Given the description of an element on the screen output the (x, y) to click on. 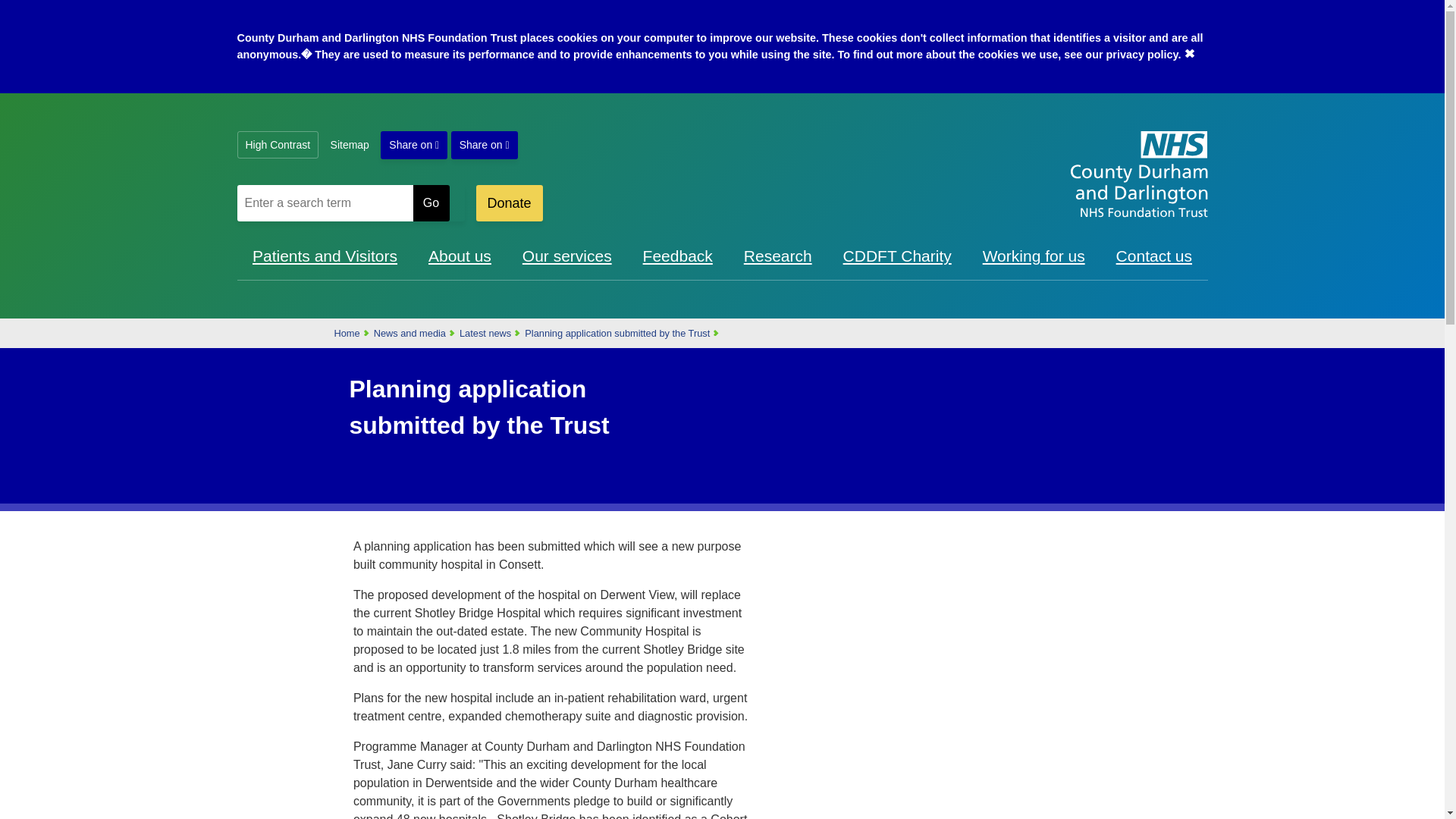
Link to Contact us (1154, 255)
Planning application submitted by the Trust (617, 333)
Home (346, 333)
Close (1189, 52)
Link to Our services (566, 255)
CDDFT Logo (1138, 174)
Research (778, 255)
Our services (566, 255)
Link to Sitemap (349, 144)
Link to Feedback (678, 255)
News and media (409, 333)
Link to About us (460, 255)
External link to CDDFT Charity (897, 255)
Sitemap (349, 144)
Planning application submitted by the Trust (617, 333)
